Given the description of an element on the screen output the (x, y) to click on. 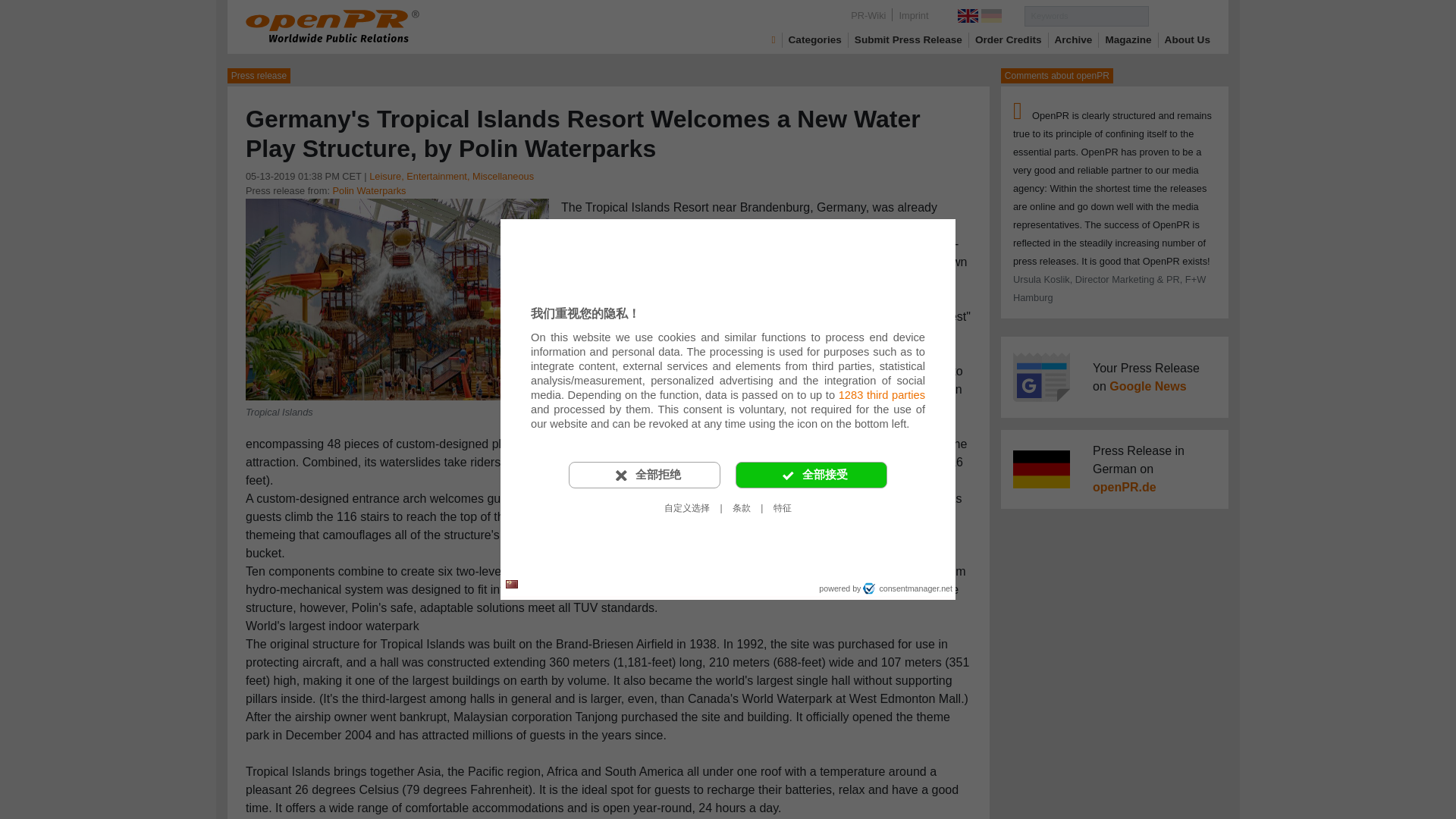
Imprint (913, 15)
Categories (815, 39)
PR-Wiki (867, 15)
Tropical Islands (397, 297)
Language: zh (511, 583)
About Us (1186, 39)
archive und pressrelease of Polin Waterparks (368, 190)
Submit Press Release (908, 39)
consentmanager.net (907, 588)
Archive (1073, 39)
